Given the description of an element on the screen output the (x, y) to click on. 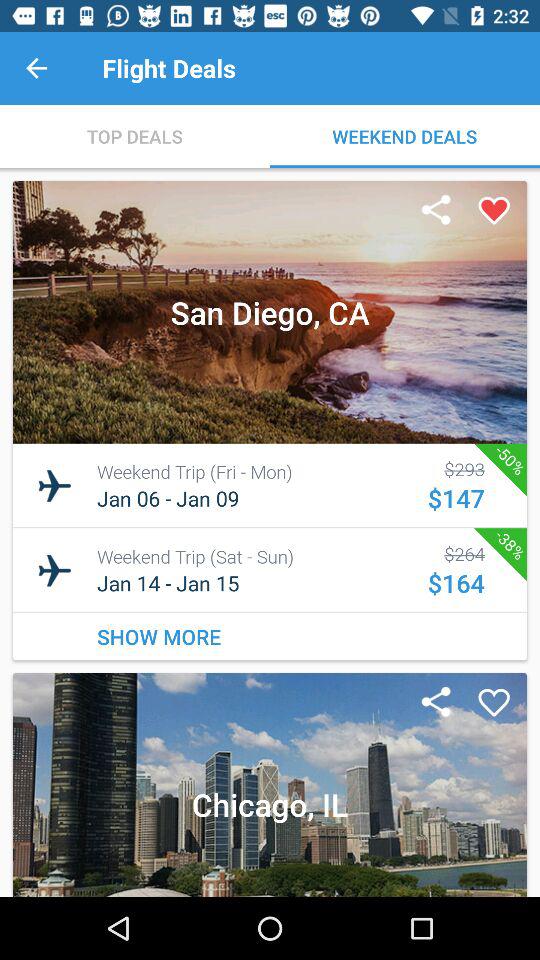
go back (36, 68)
